Given the description of an element on the screen output the (x, y) to click on. 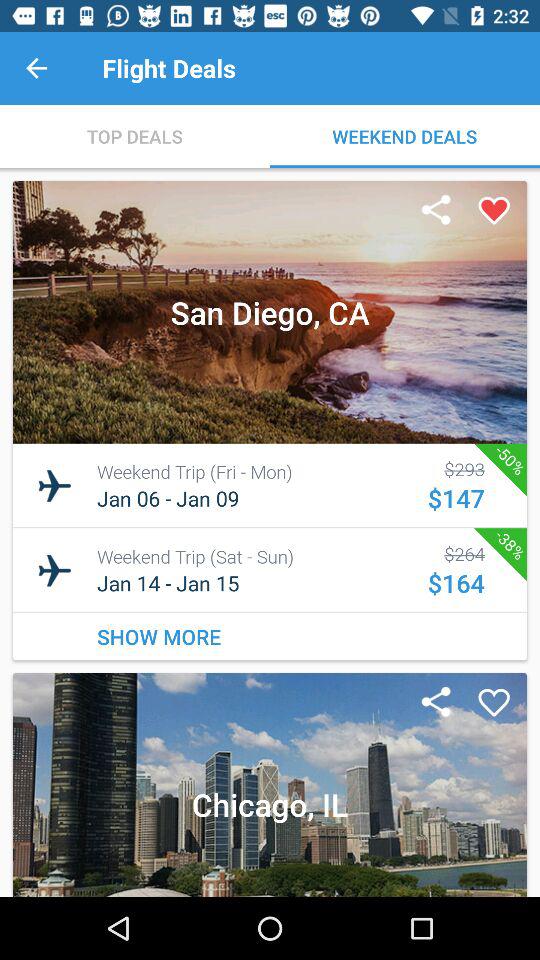
go back (36, 68)
